Given the description of an element on the screen output the (x, y) to click on. 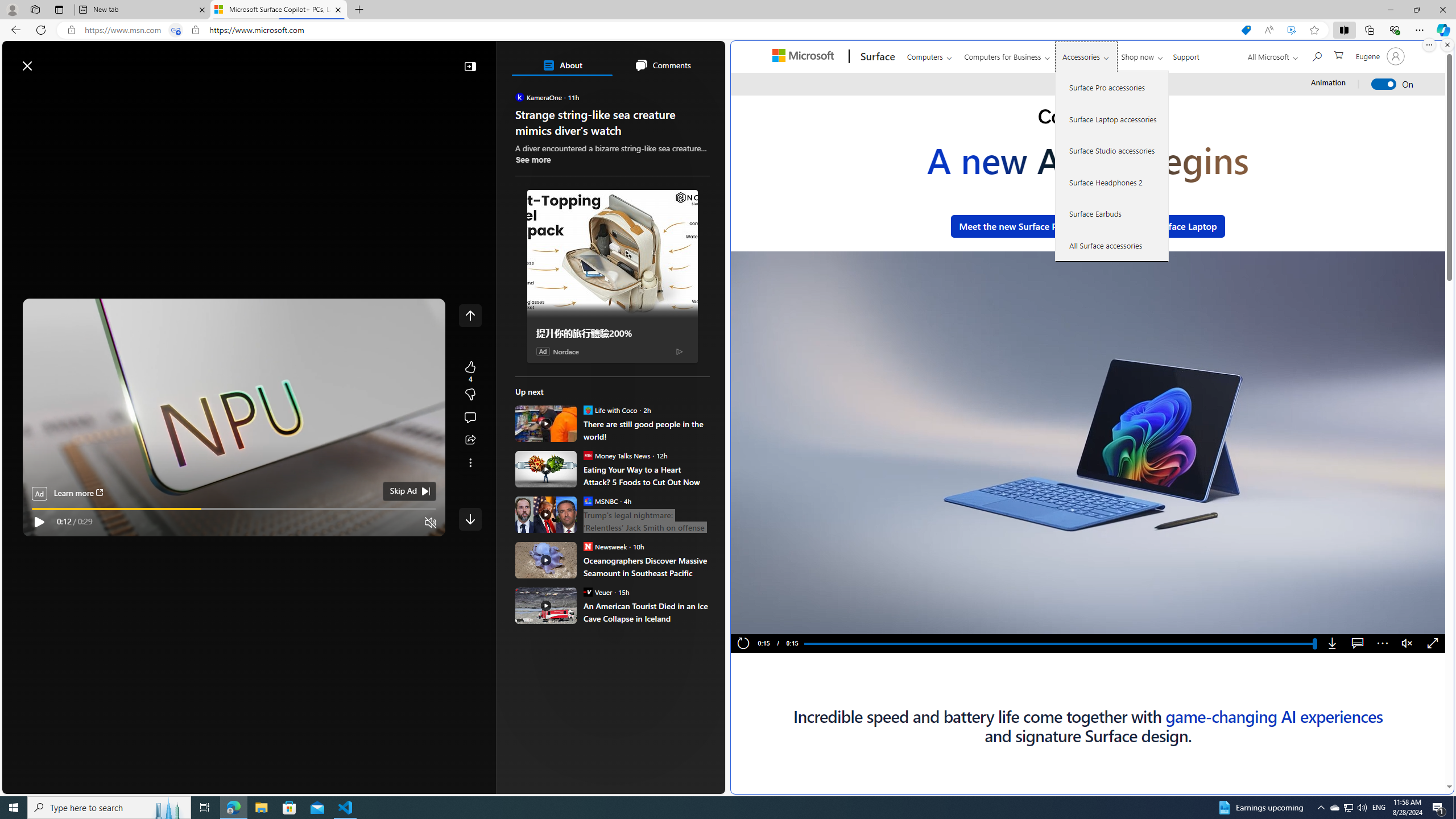
Shopping in Microsoft Edge (1245, 29)
Search Microsoft.com (1316, 54)
Veuer (587, 591)
Surface Studio accessories (1112, 150)
Class: control (469, 518)
Enter your search term (366, 59)
Money Talks News Money Talks News (616, 455)
Comments (662, 64)
Account manager for Eugene (1378, 55)
Collapse (469, 65)
